Given the description of an element on the screen output the (x, y) to click on. 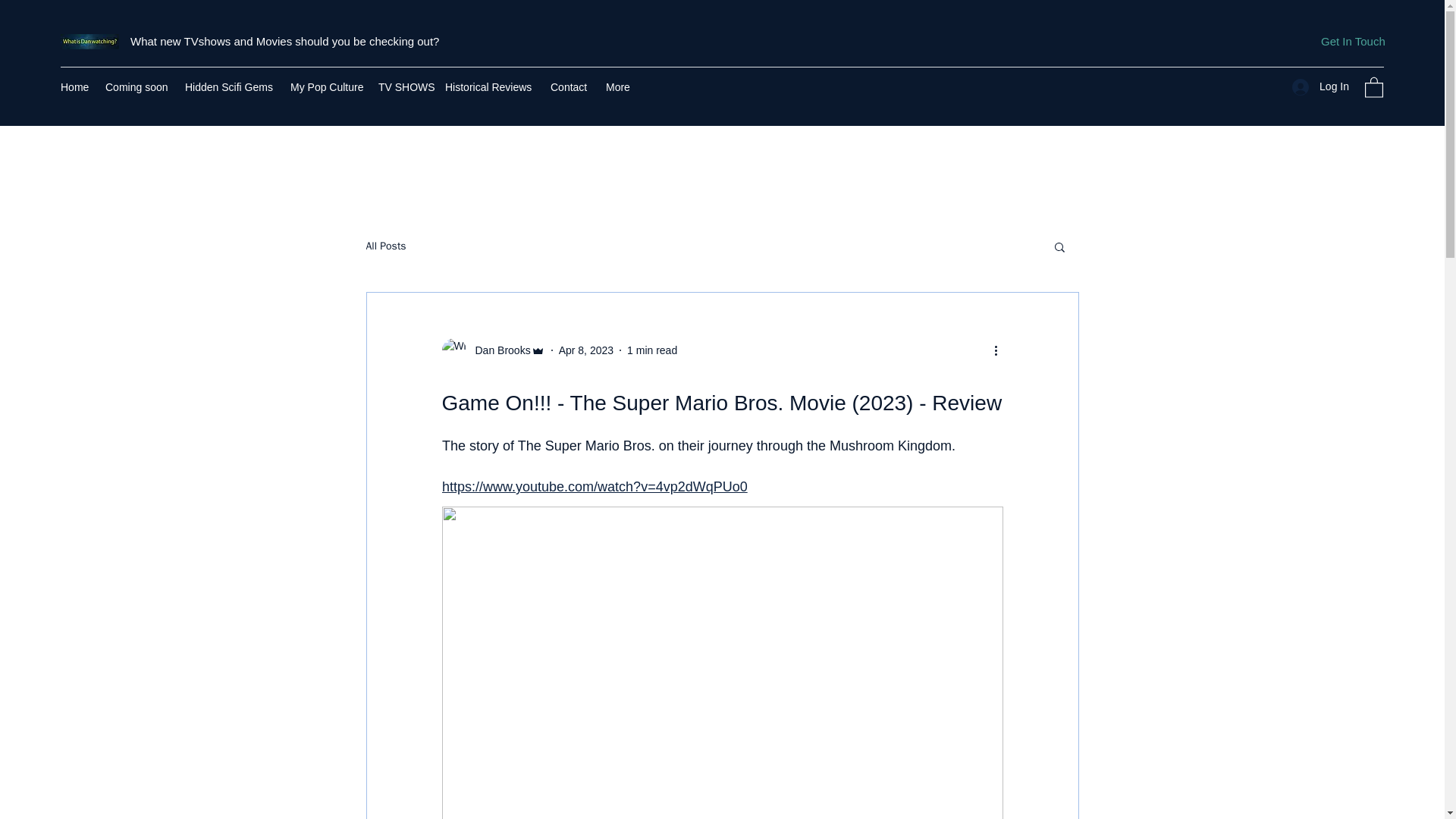
1 min read (652, 349)
Hidden Scifi Gems (229, 87)
Get In Touch (1353, 42)
Apr 8, 2023 (585, 349)
Historical Reviews (490, 87)
Log In (1320, 86)
Home (74, 87)
Dan Brooks (492, 350)
TV SHOWS (404, 87)
Coming soon (137, 87)
